Given the description of an element on the screen output the (x, y) to click on. 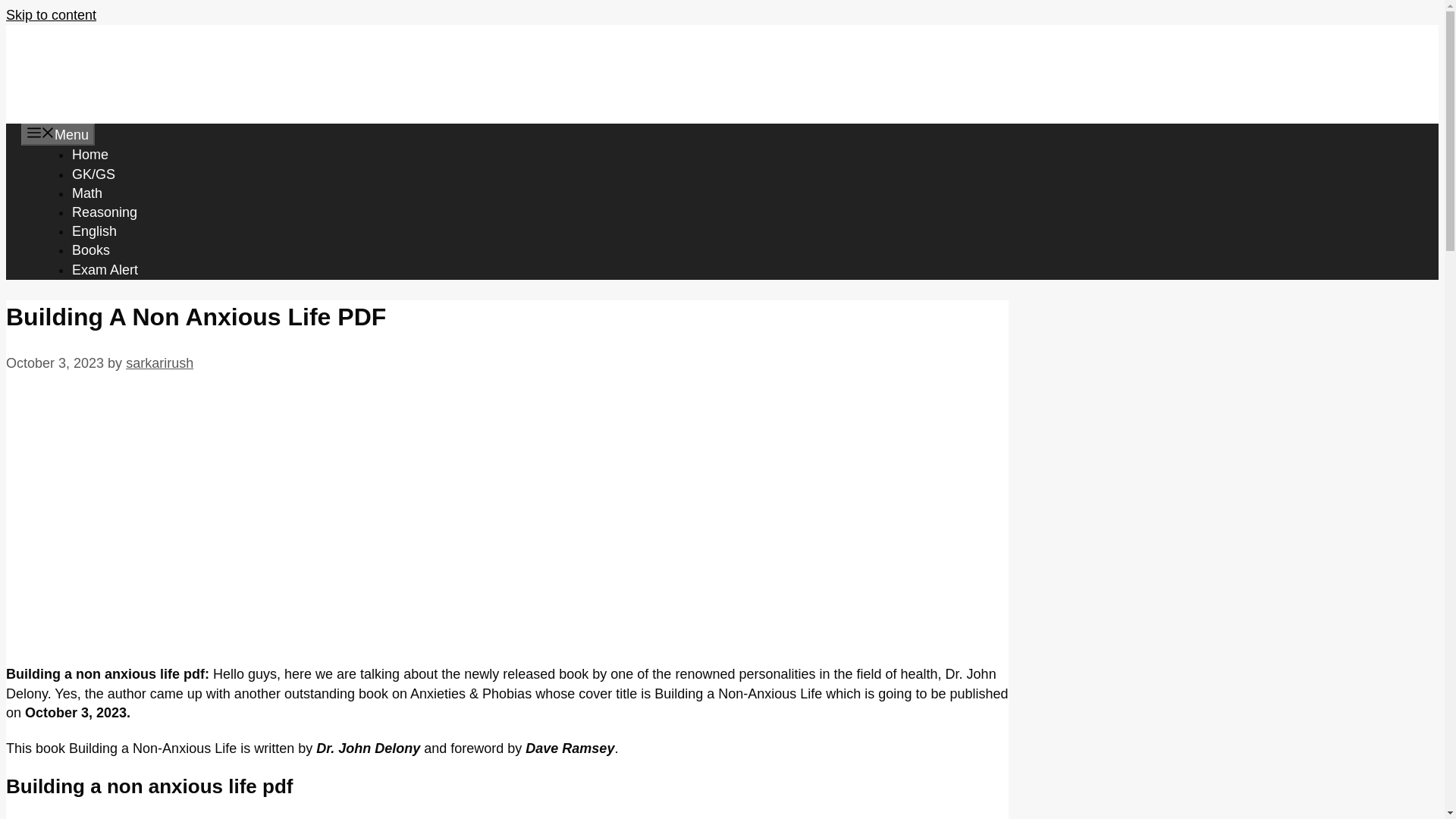
sarkarirush (159, 363)
Skip to content (50, 14)
Reasoning (103, 212)
Books (90, 249)
Menu (57, 134)
Math (86, 192)
Exam Alert (104, 269)
View all posts by sarkarirush (159, 363)
English (93, 231)
Skip to content (50, 14)
Home (89, 154)
